Given the description of an element on the screen output the (x, y) to click on. 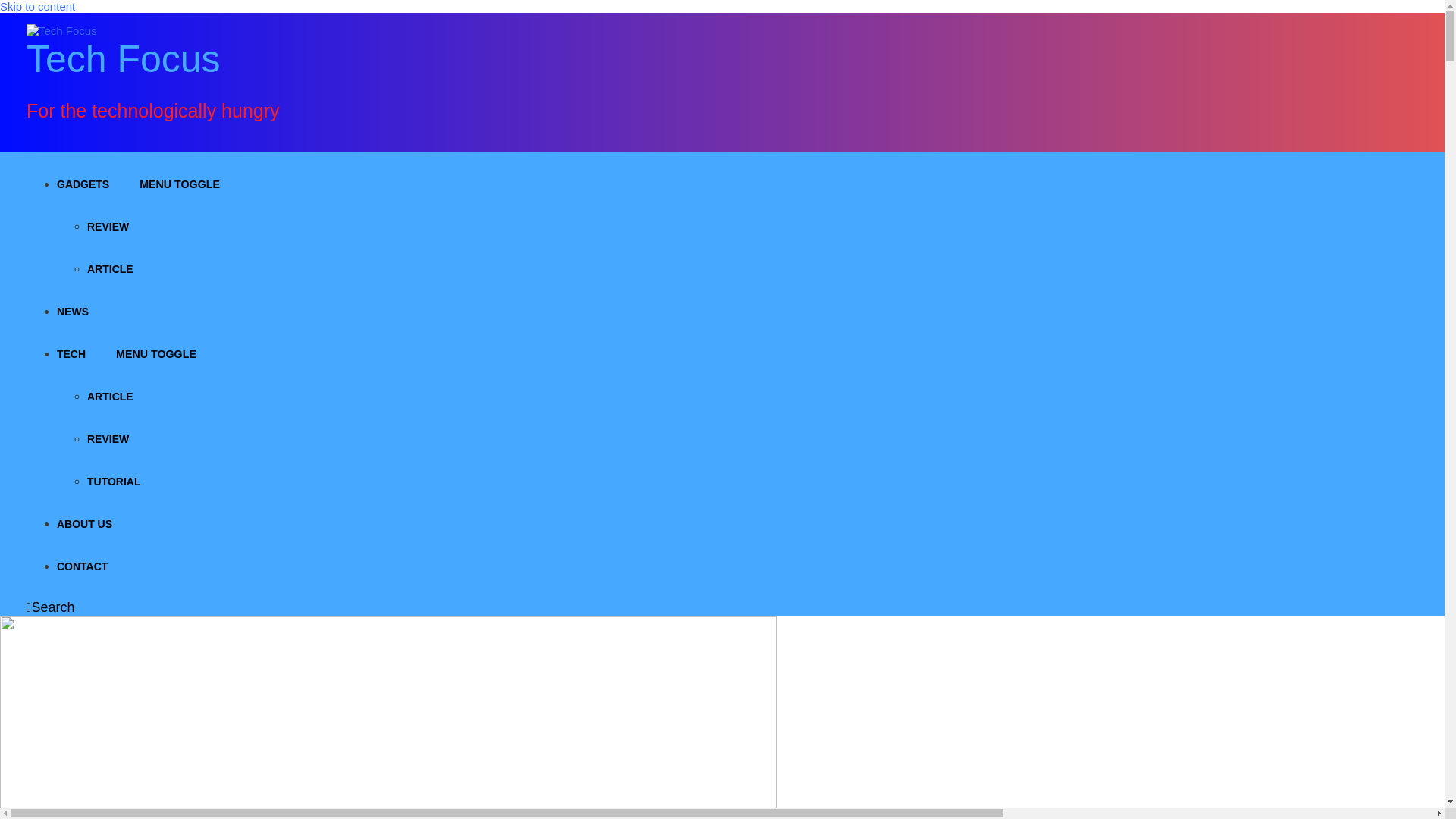
MENU TOGGLE (179, 184)
Skip to content (37, 6)
REVIEW (108, 226)
ARTICLE (110, 268)
Skip to content (37, 6)
CONTACT (81, 566)
GADGETS (82, 184)
NEWS (72, 311)
Tech Focus (123, 58)
TECH (70, 354)
TUTORIAL (113, 481)
ABOUT US (84, 523)
ARTICLE (110, 396)
Search (50, 607)
REVIEW (108, 439)
